Given the description of an element on the screen output the (x, y) to click on. 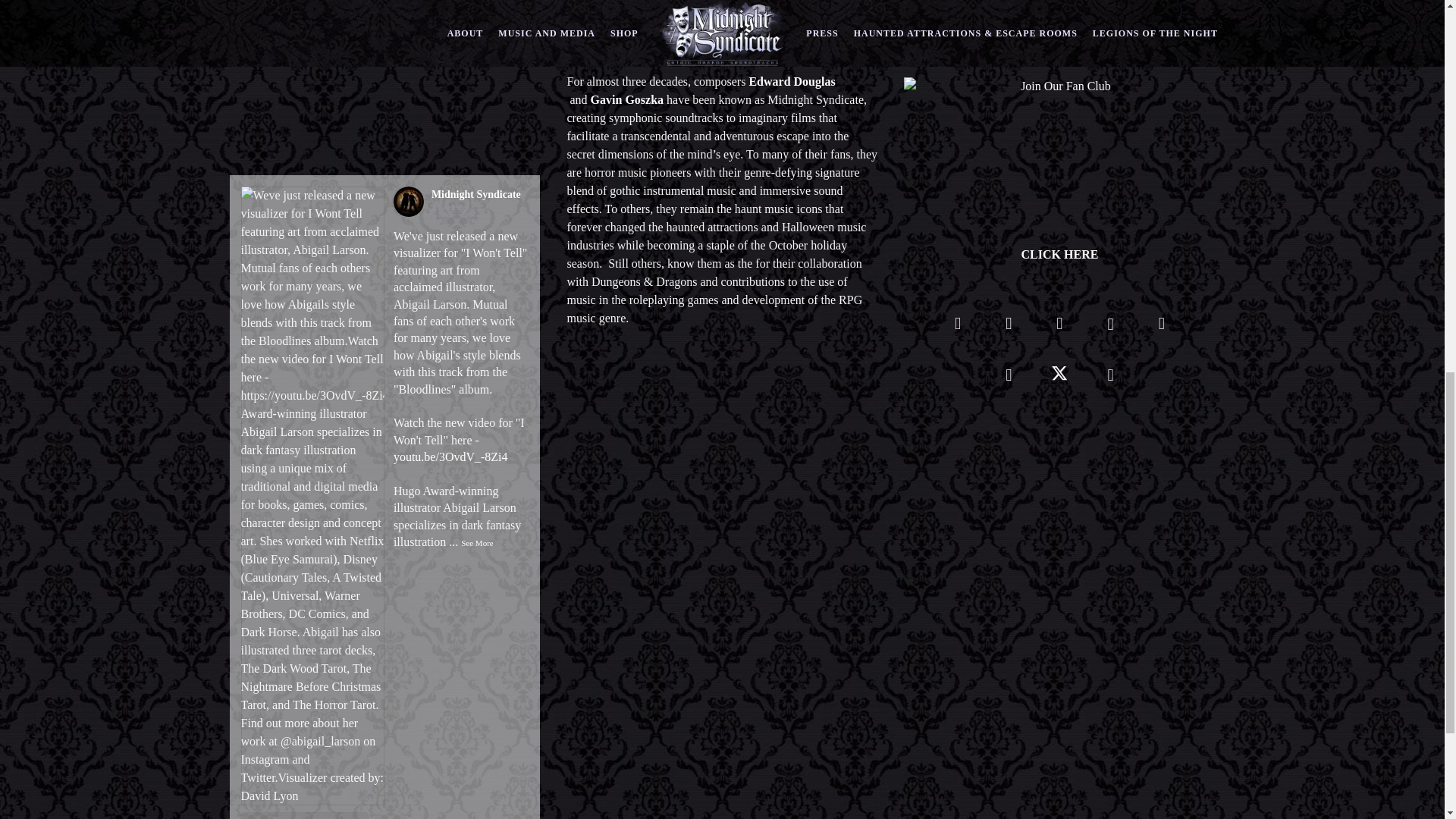
facebook (957, 327)
Likebox Content (384, 127)
Back to the top (1412, 117)
apple (1008, 379)
email (1109, 379)
instagram (1008, 327)
amazon (1160, 327)
spotify (1059, 327)
youtube (1110, 333)
twitter (1059, 379)
